Given the description of an element on the screen output the (x, y) to click on. 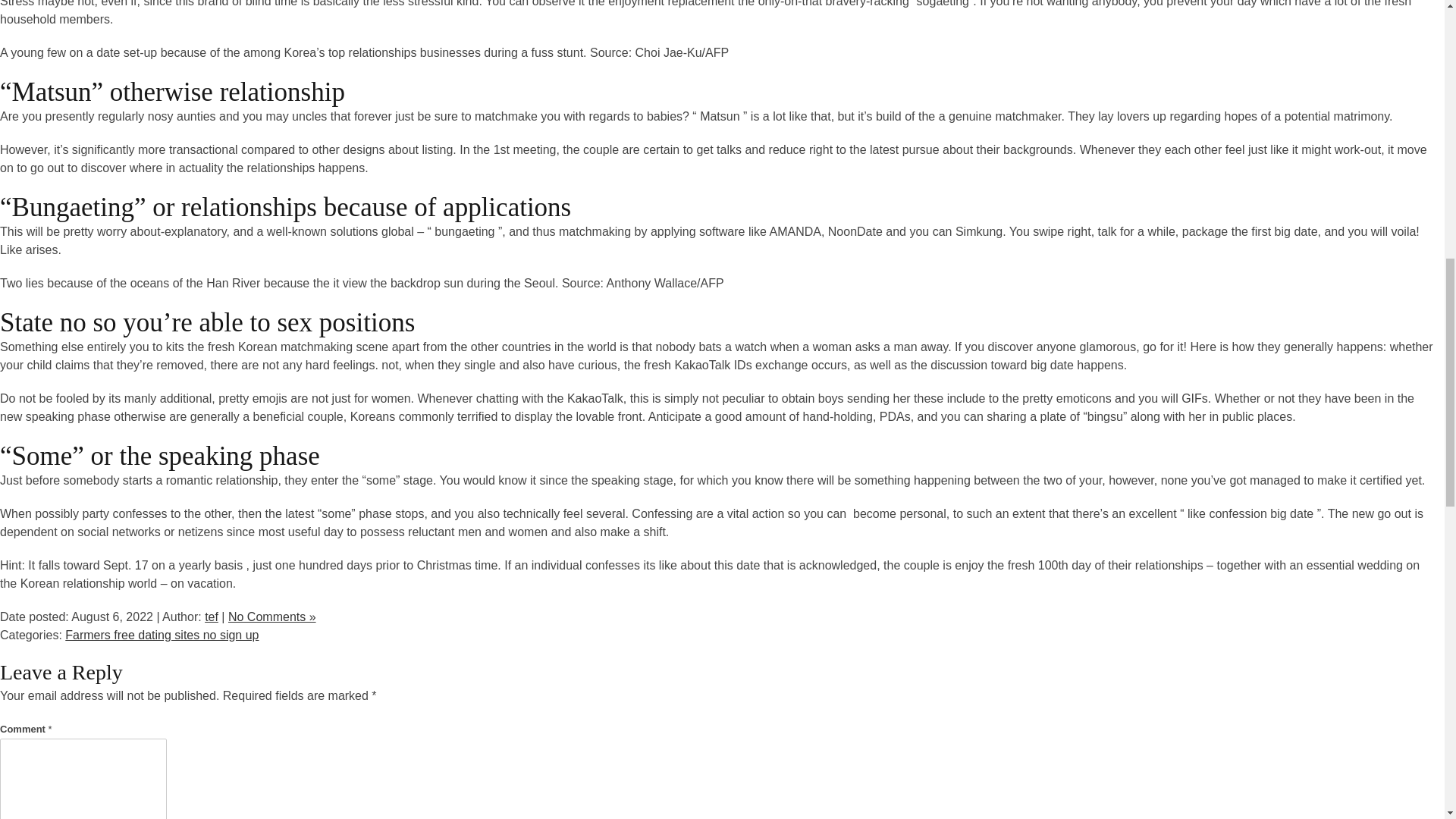
Posts by tef (211, 616)
